Given the description of an element on the screen output the (x, y) to click on. 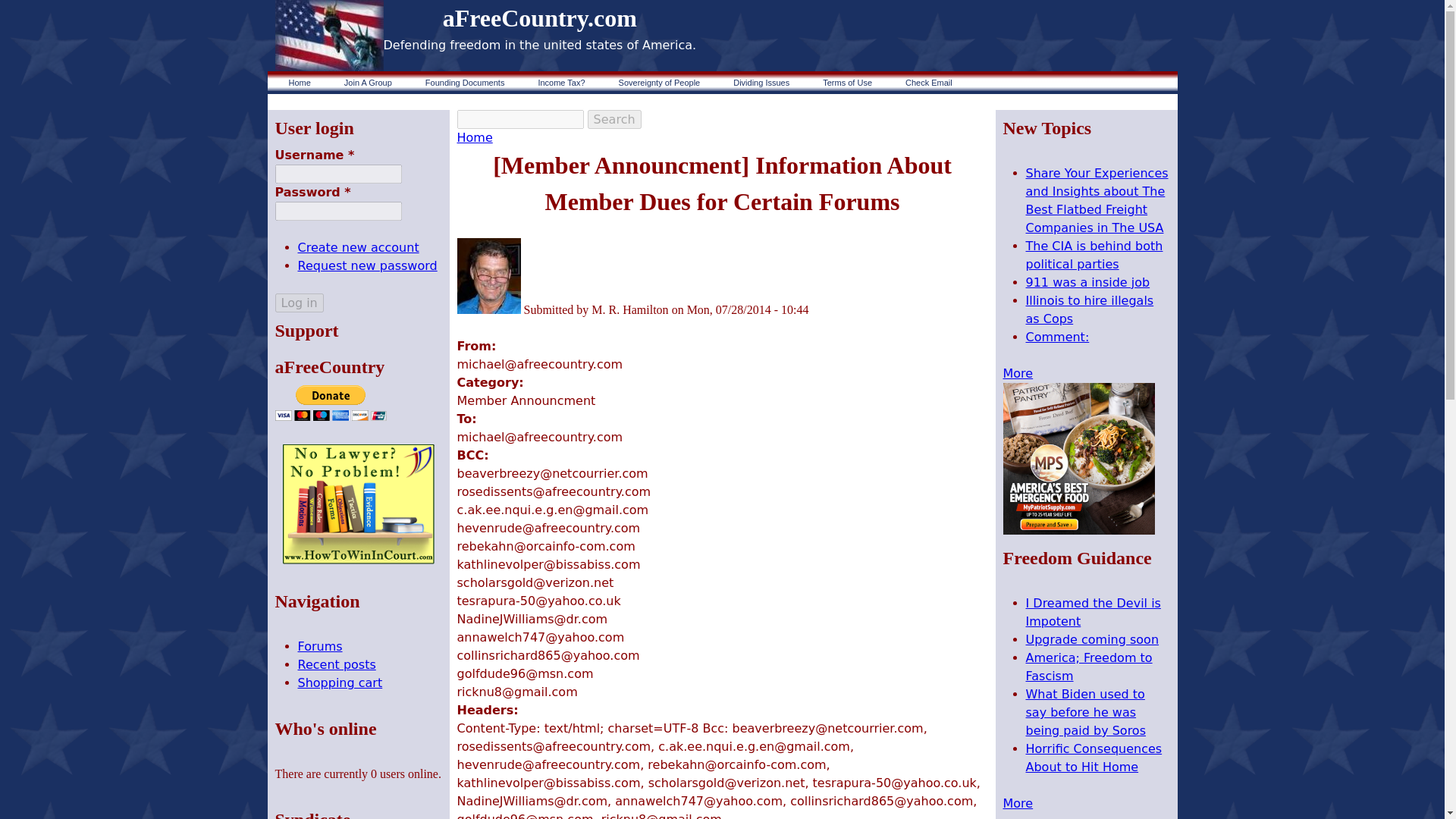
Home (328, 35)
Home (539, 17)
To pay or not to pay? (561, 81)
Home (299, 81)
Create of join a group or grand jury on aFreeCountry.com. (368, 81)
Enter the terms you wish to search for. (520, 118)
Log in (299, 302)
Search (615, 118)
Founding Documents (465, 81)
Join A Group (368, 81)
Search (615, 118)
Home (474, 137)
aFreeCountry.com (539, 17)
